Given the description of an element on the screen output the (x, y) to click on. 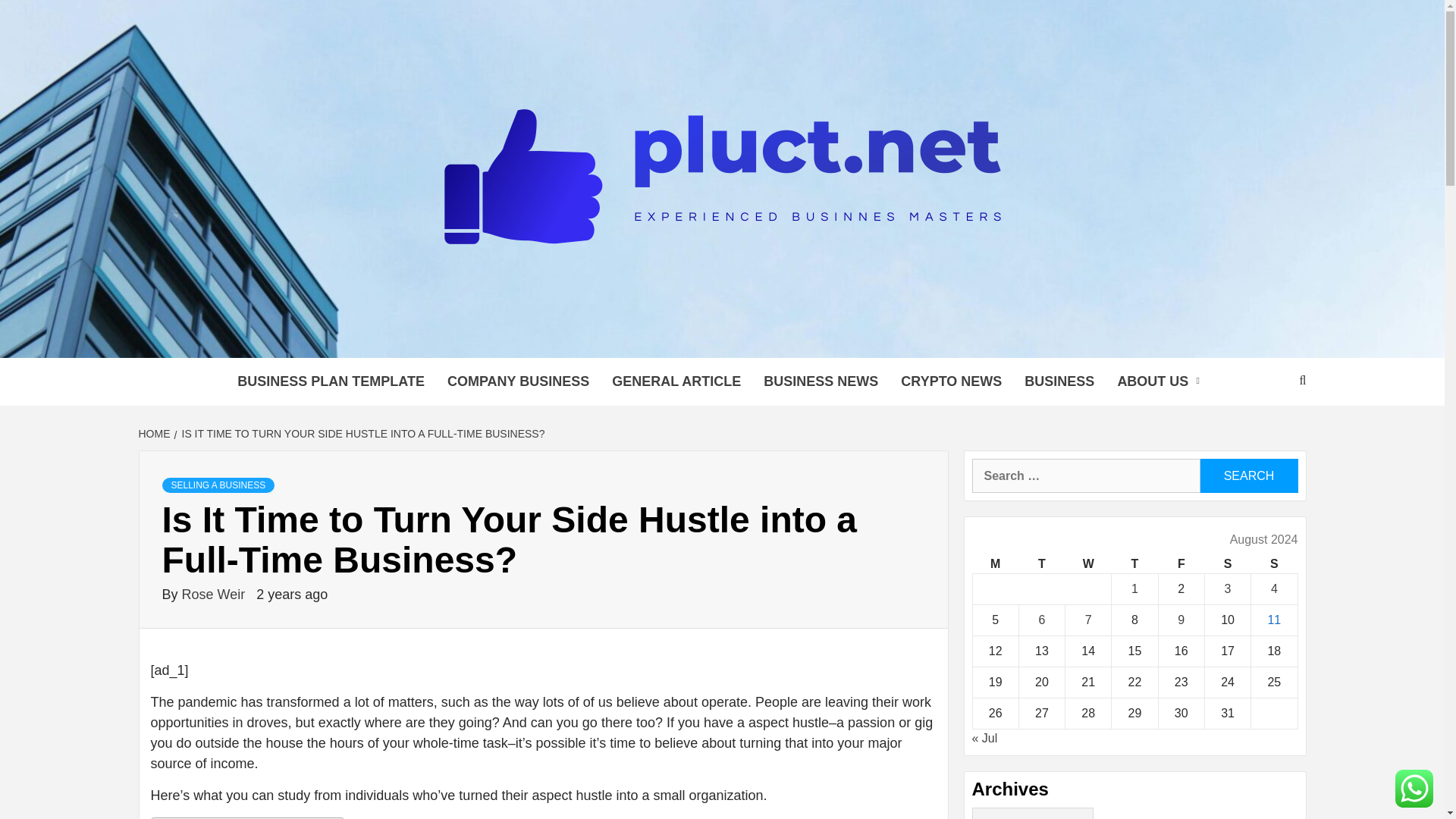
Rose Weir (215, 594)
Tuesday (1040, 564)
COMPANY BUSINESS (517, 381)
SELLING A BUSINESS (218, 485)
Friday (1180, 564)
BUSINESS (1059, 381)
Sunday (1273, 564)
Thursday (1134, 564)
PLUCT NET (354, 338)
Search (1248, 475)
